Given the description of an element on the screen output the (x, y) to click on. 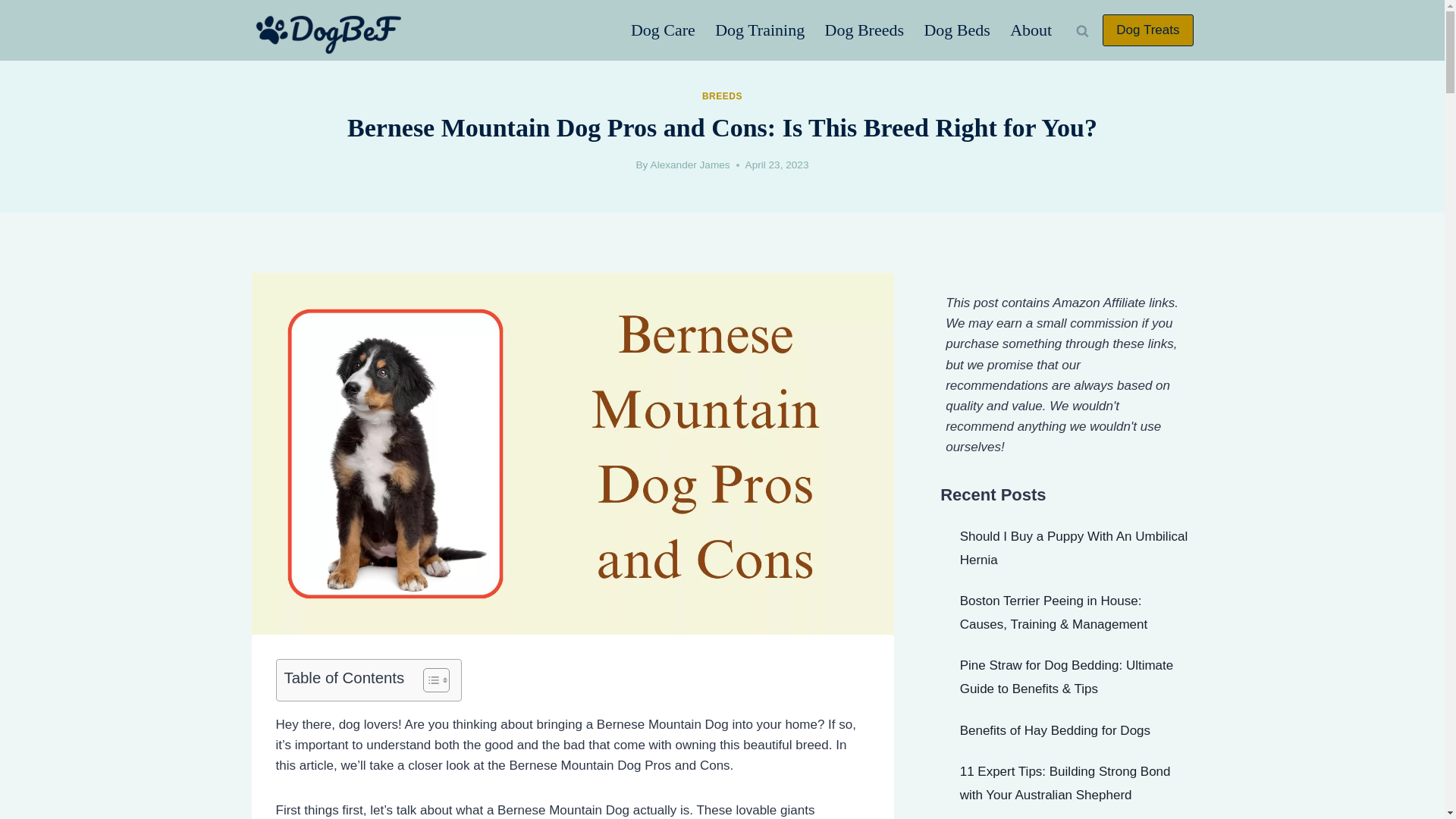
Dog Beds (957, 30)
Dog Treats (1147, 30)
BREEDS (721, 95)
About (1030, 30)
Dog Care (662, 30)
Dog Training (758, 30)
Dog Breeds (863, 30)
